Given the description of an element on the screen output the (x, y) to click on. 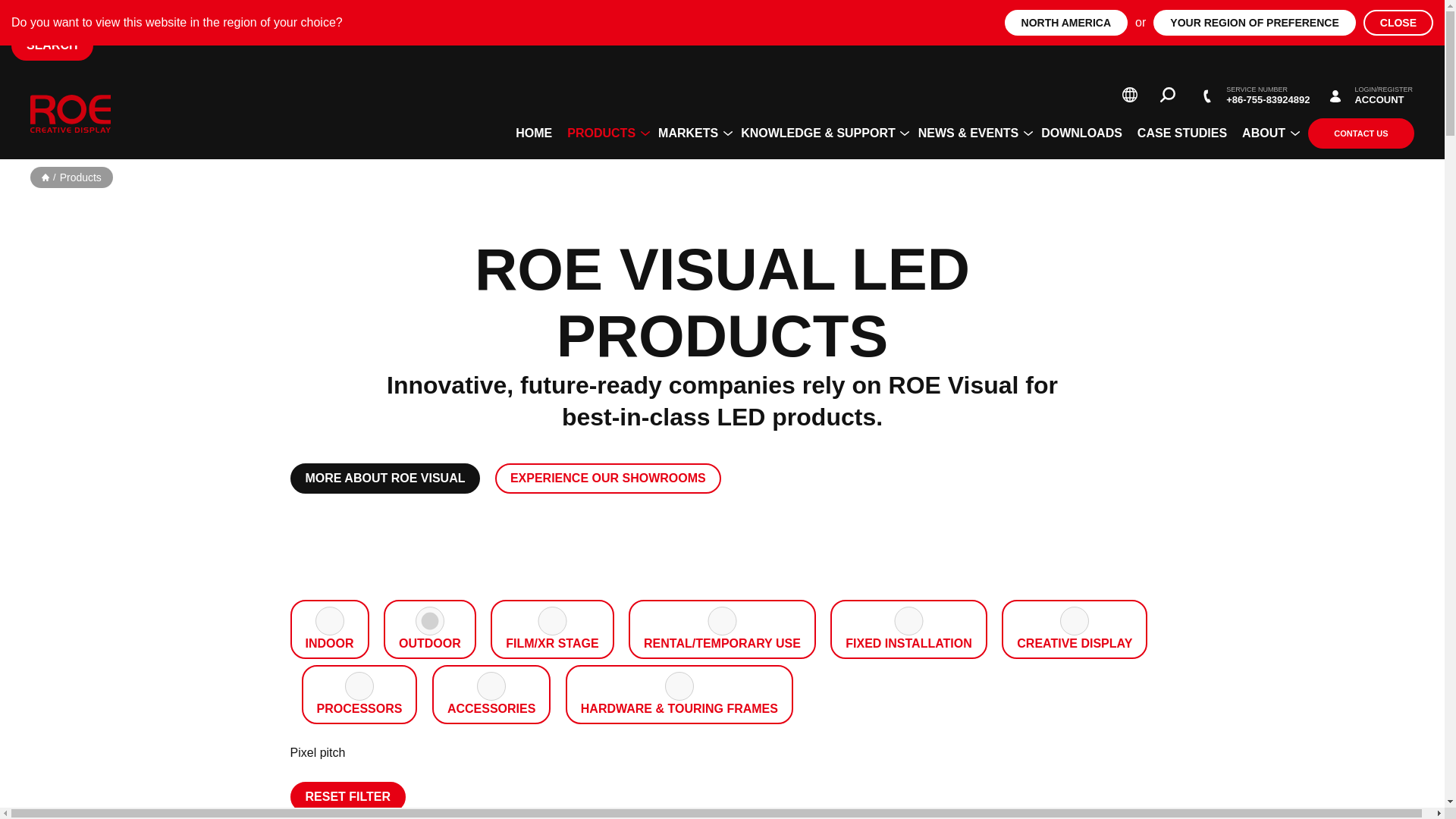
Search (1167, 94)
CLOSE (1397, 22)
ROE Visual (70, 113)
Search (1167, 94)
Close (1397, 22)
52 (551, 620)
NORTH AMERICA (1065, 22)
33 (490, 686)
PRODUCTS (604, 133)
North America (1065, 22)
